Given the description of an element on the screen output the (x, y) to click on. 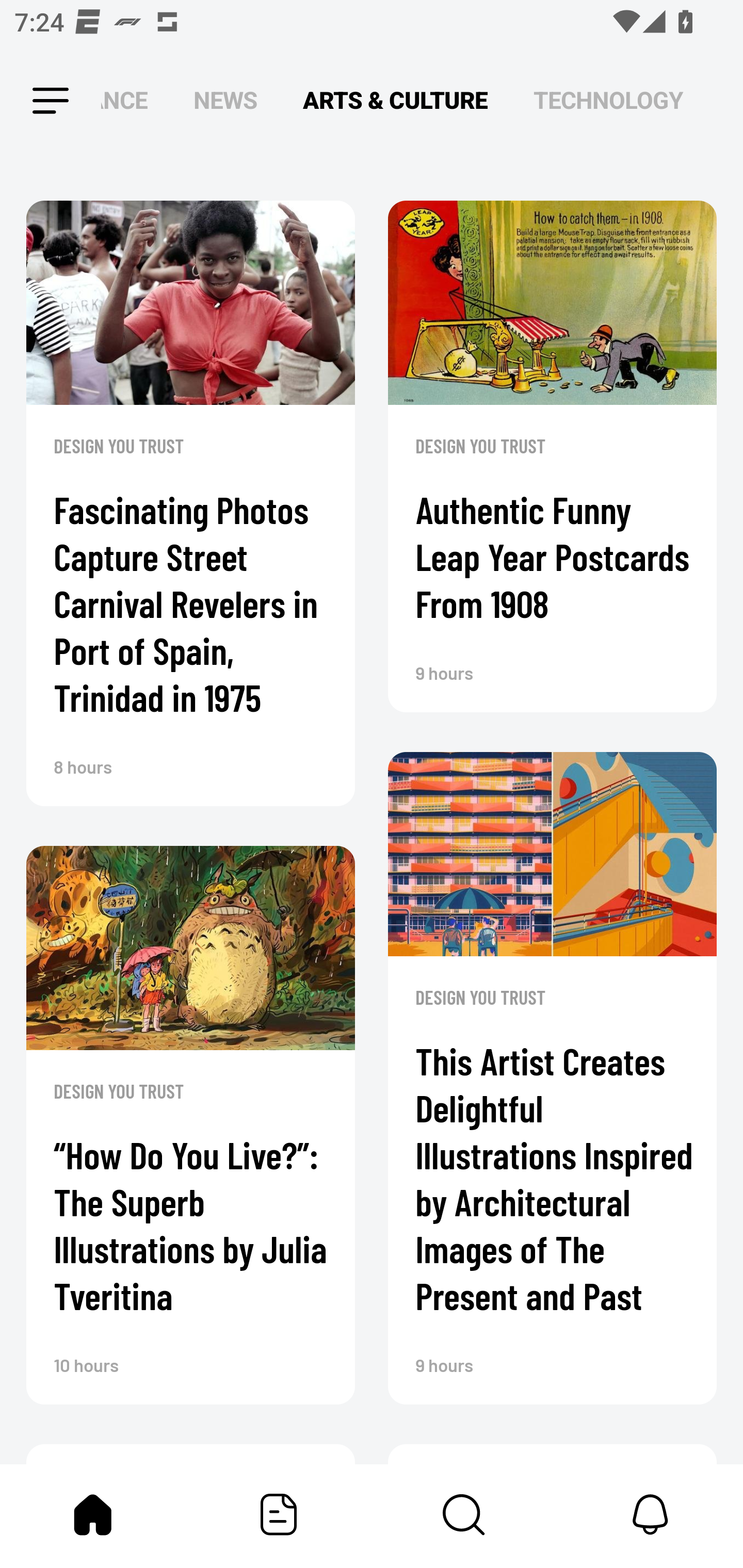
Leading Icon (32, 101)
BUSINESS & FINANCE (124, 100)
NEWS (225, 100)
TECHNOLOGY (607, 100)
Featured (278, 1514)
Content Store (464, 1514)
Notifications (650, 1514)
